Given the description of an element on the screen output the (x, y) to click on. 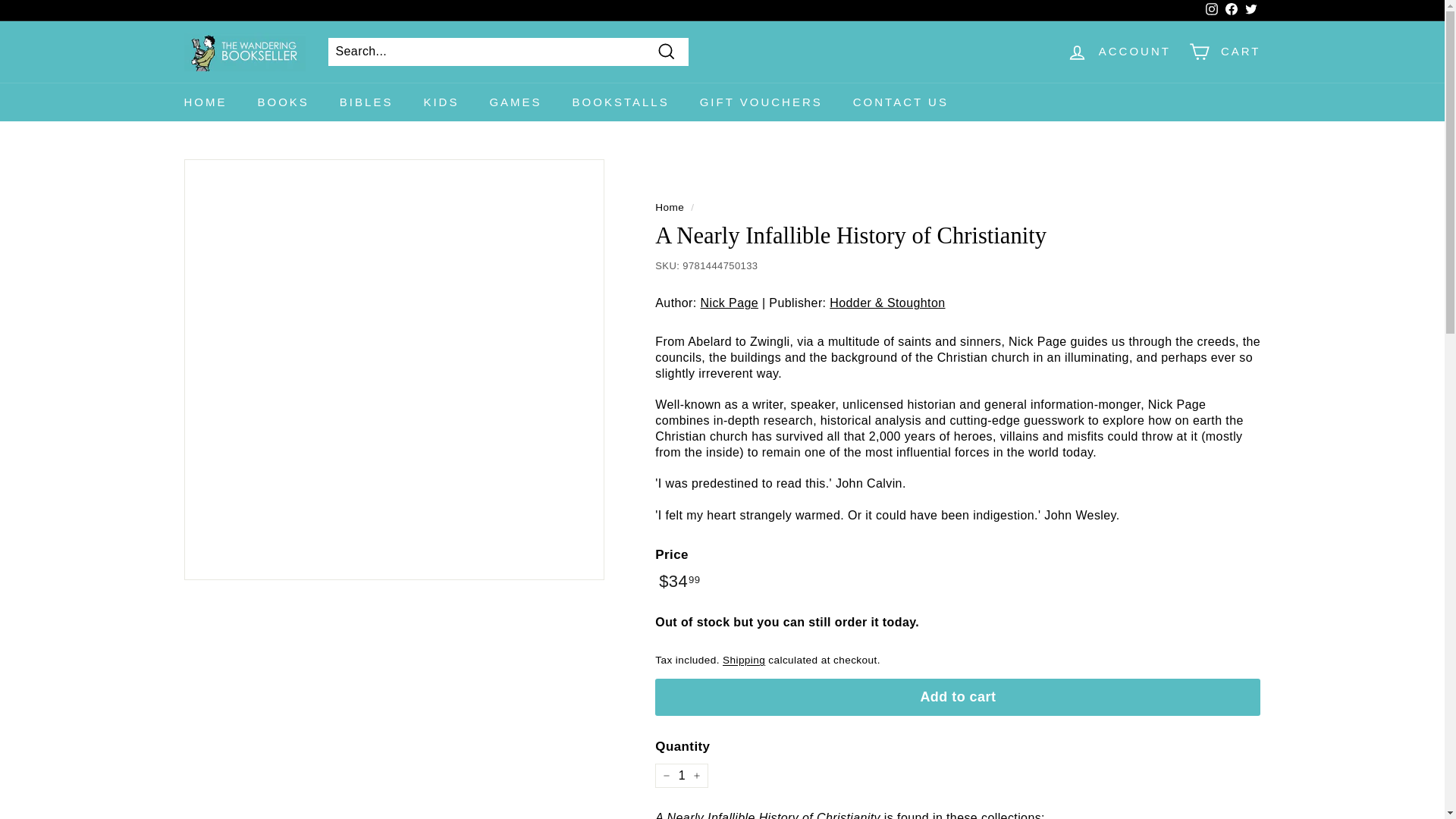
The Wandering Bookseller on Instagram (1211, 10)
BOOKS (283, 102)
The Wandering Bookseller on Facebook (1230, 10)
The Wandering Bookseller on Twitter (1250, 10)
Instagram (1211, 10)
ACCOUNT (1118, 51)
Nick Page (729, 302)
Facebook (1230, 10)
Twitter (1250, 10)
Back to the frontpage (669, 206)
HOME (204, 102)
1 (681, 774)
